Given the description of an element on the screen output the (x, y) to click on. 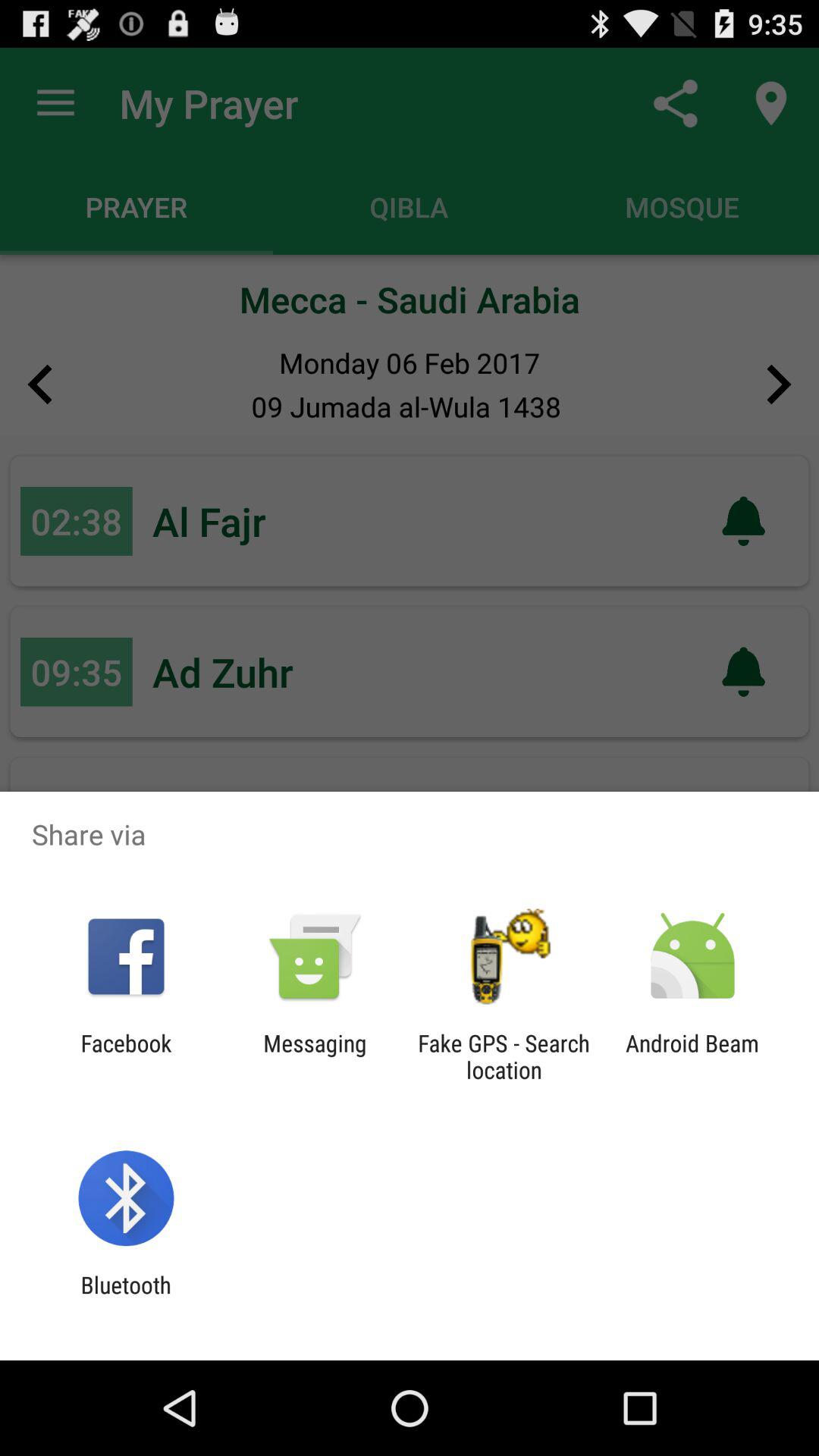
launch the android beam app (692, 1056)
